Given the description of an element on the screen output the (x, y) to click on. 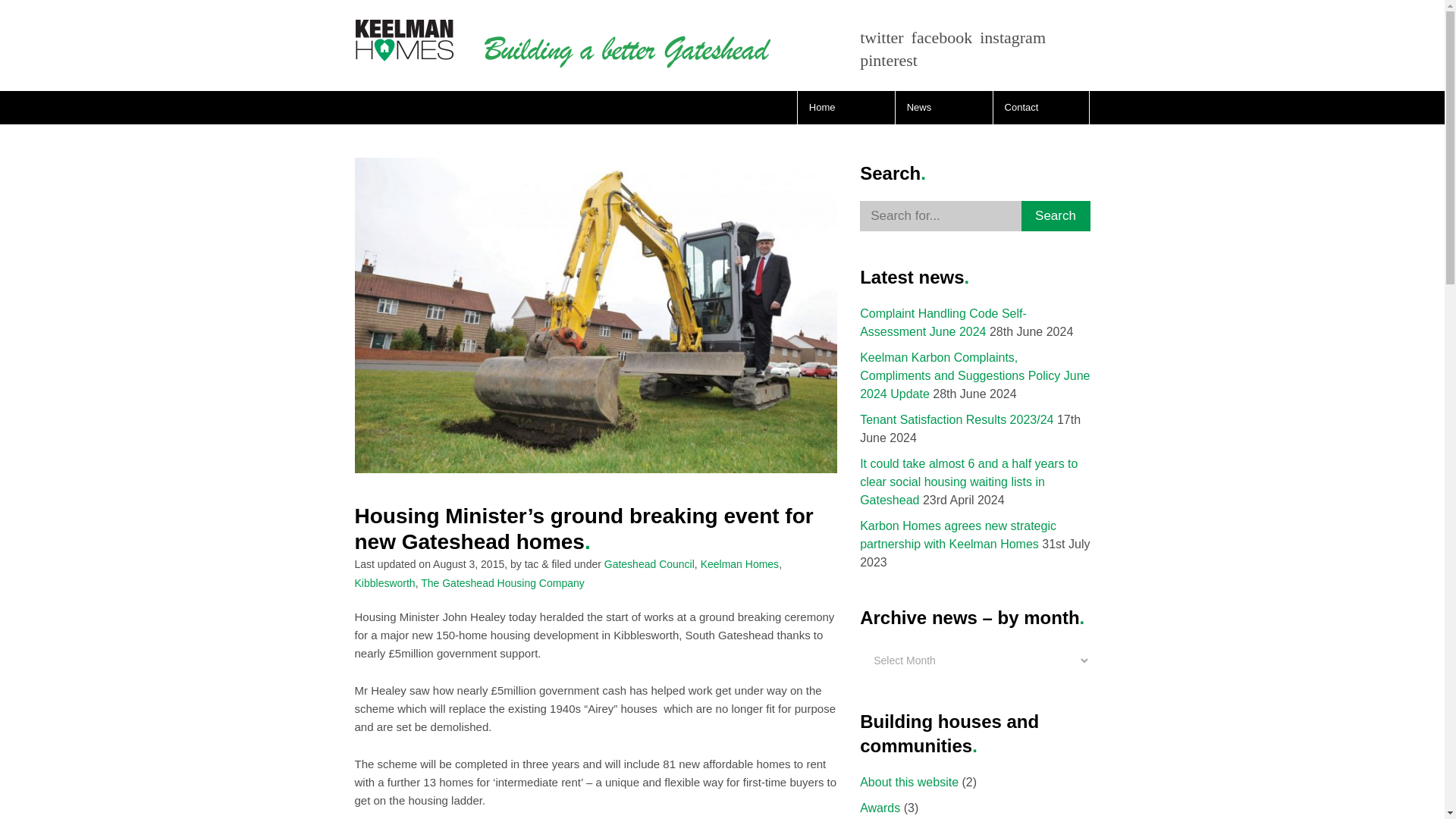
Keelman Homes (739, 563)
Contact (1040, 107)
Search (1056, 215)
Kibblesworth (384, 582)
Complaint Handling Code Self-Assessment June 2024 (943, 322)
The Gateshead Housing Company (502, 582)
Gateshead Council (649, 563)
Home (846, 107)
News (943, 107)
Search (1056, 215)
